Given the description of an element on the screen output the (x, y) to click on. 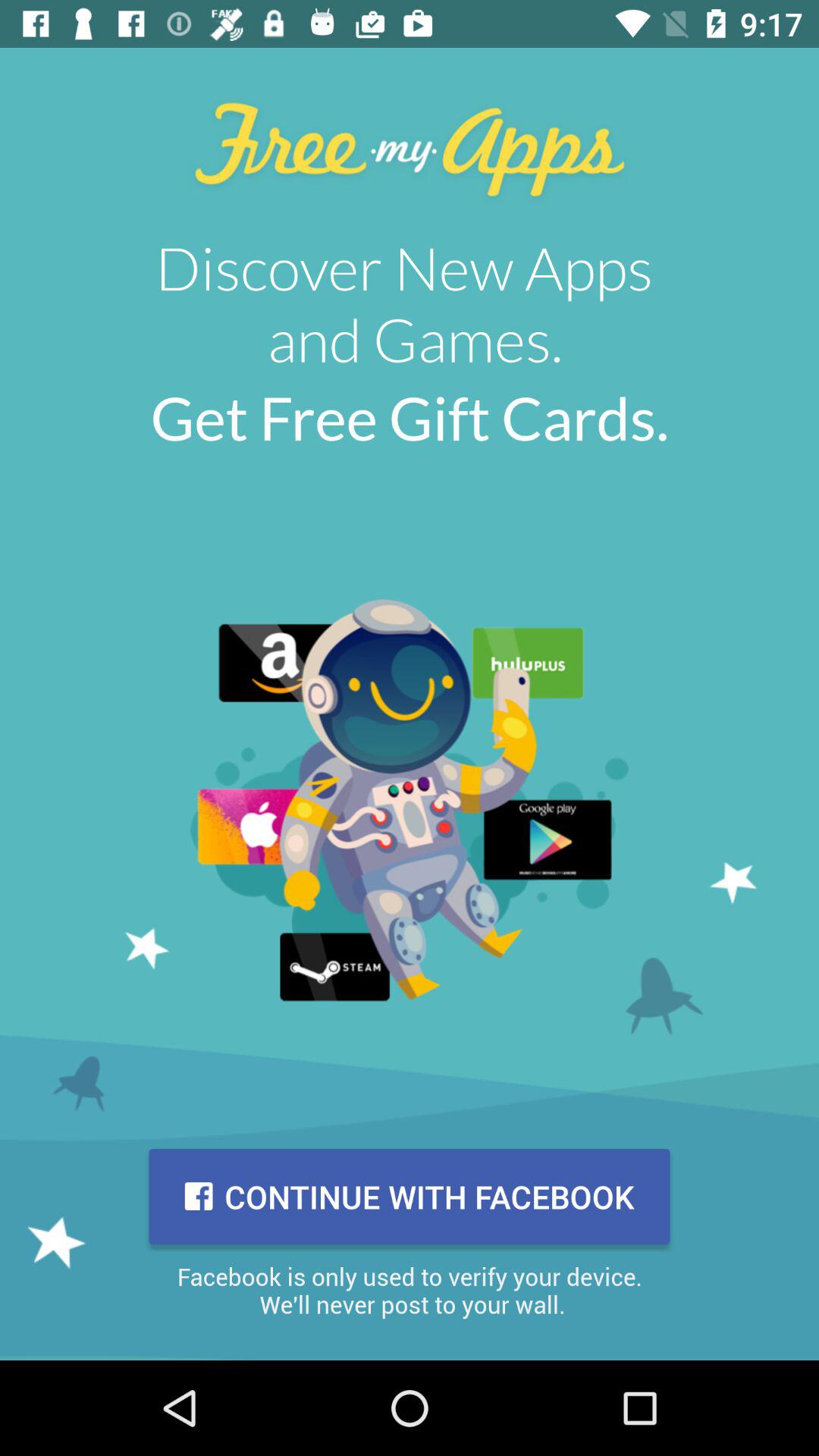
press the continue with facebook (409, 1196)
